Given the description of an element on the screen output the (x, y) to click on. 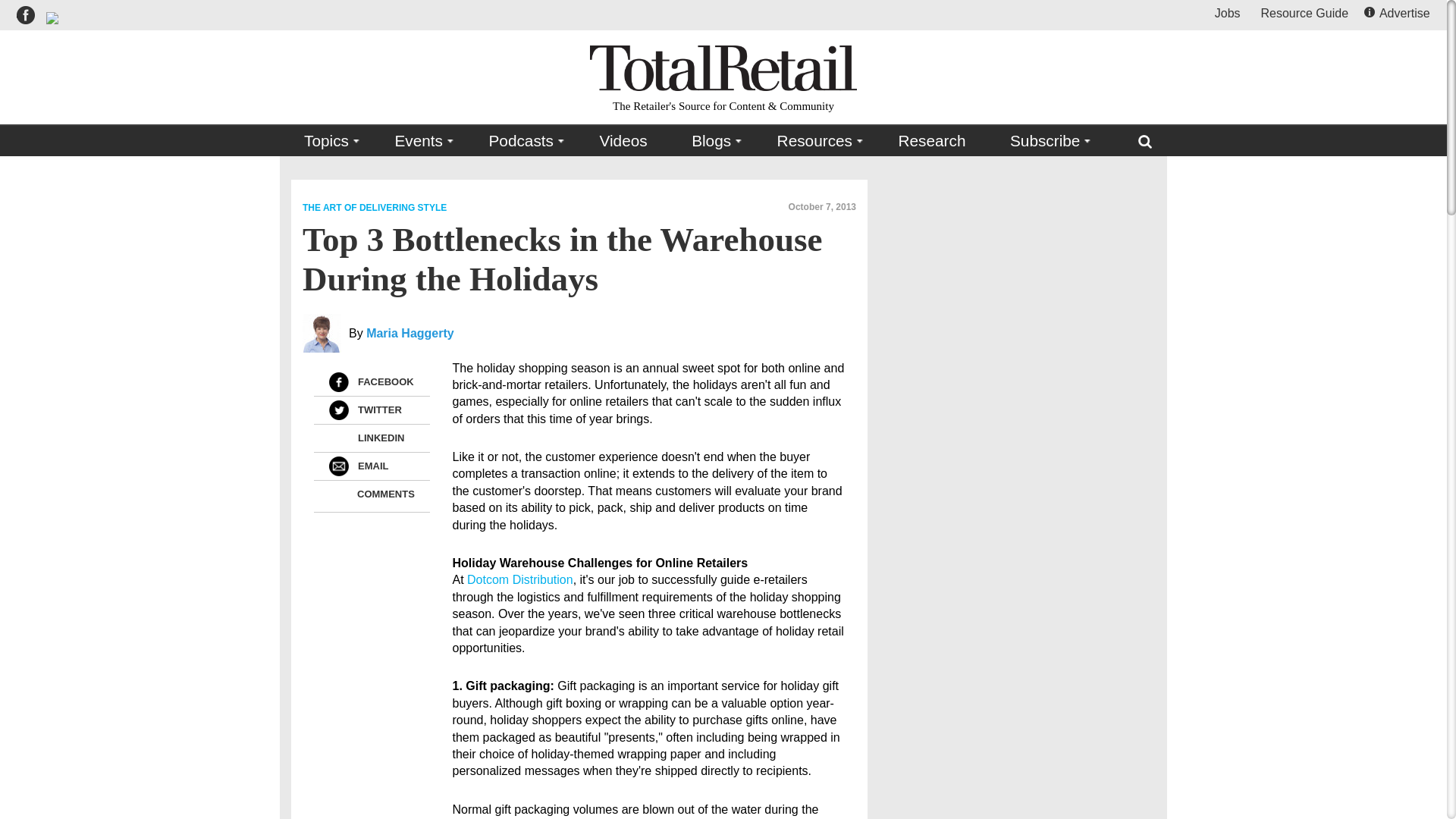
Events (418, 141)
Jobs (1227, 12)
Blogs (711, 141)
Facebook (339, 382)
LinkedIn (339, 437)
Resource Guide (1304, 12)
Videos (622, 141)
Topics (327, 141)
Advertise (1398, 12)
Twitter (339, 410)
Email Link (339, 465)
Podcasts (521, 141)
